Given the description of an element on the screen output the (x, y) to click on. 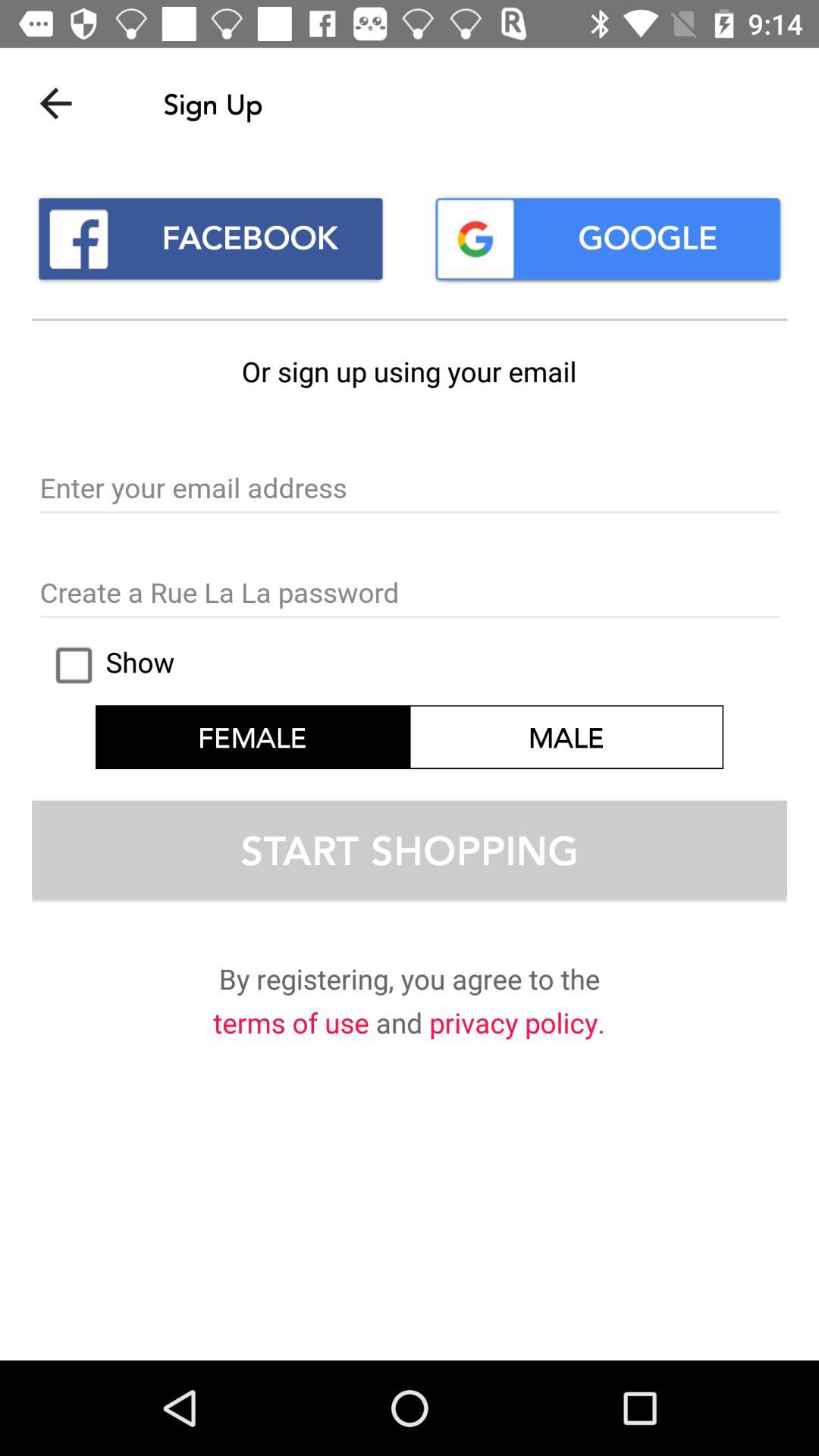
select the icon next to the female item (566, 736)
